Given the description of an element on the screen output the (x, y) to click on. 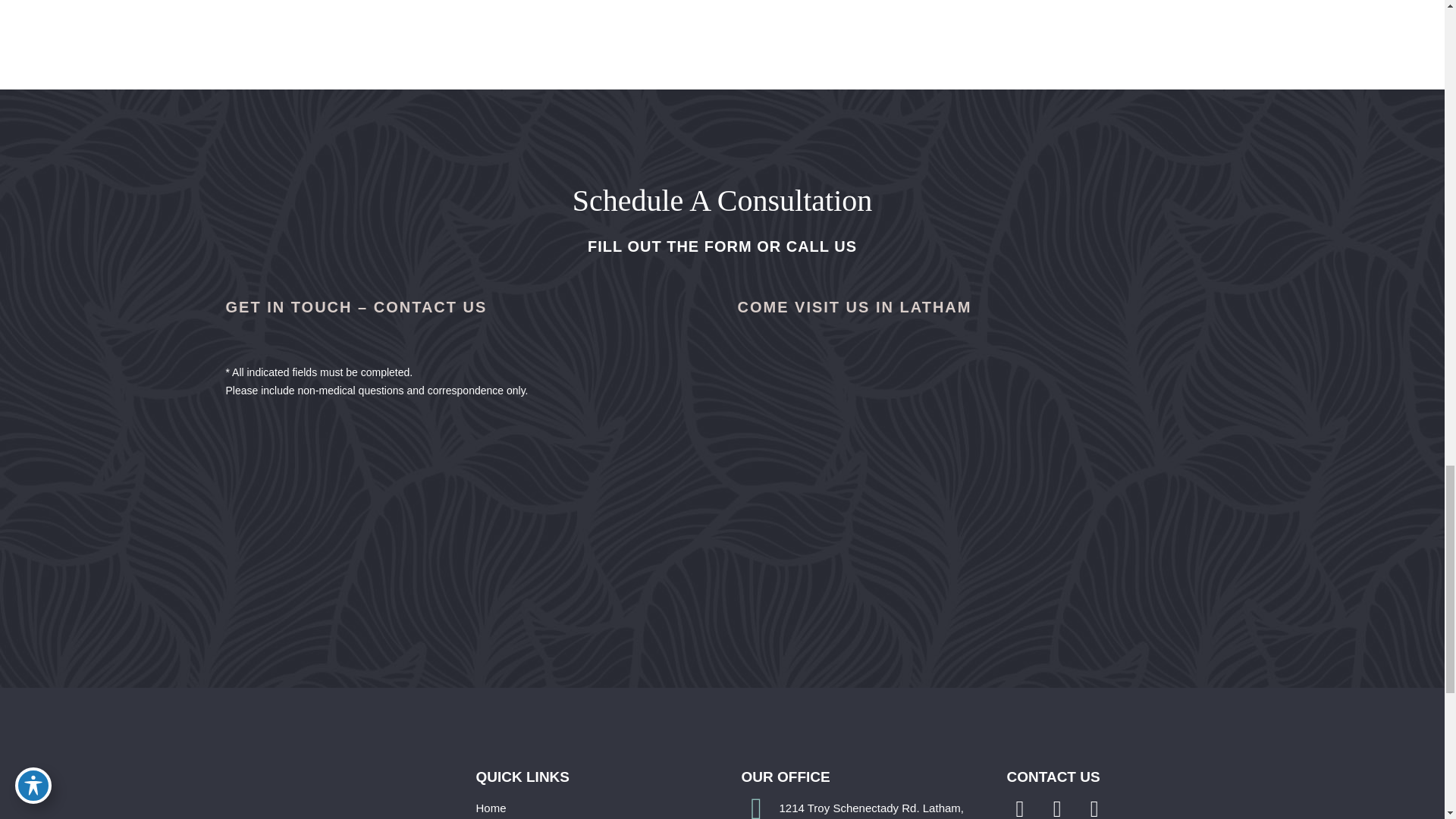
Map Location (977, 484)
